Given the description of an element on the screen output the (x, y) to click on. 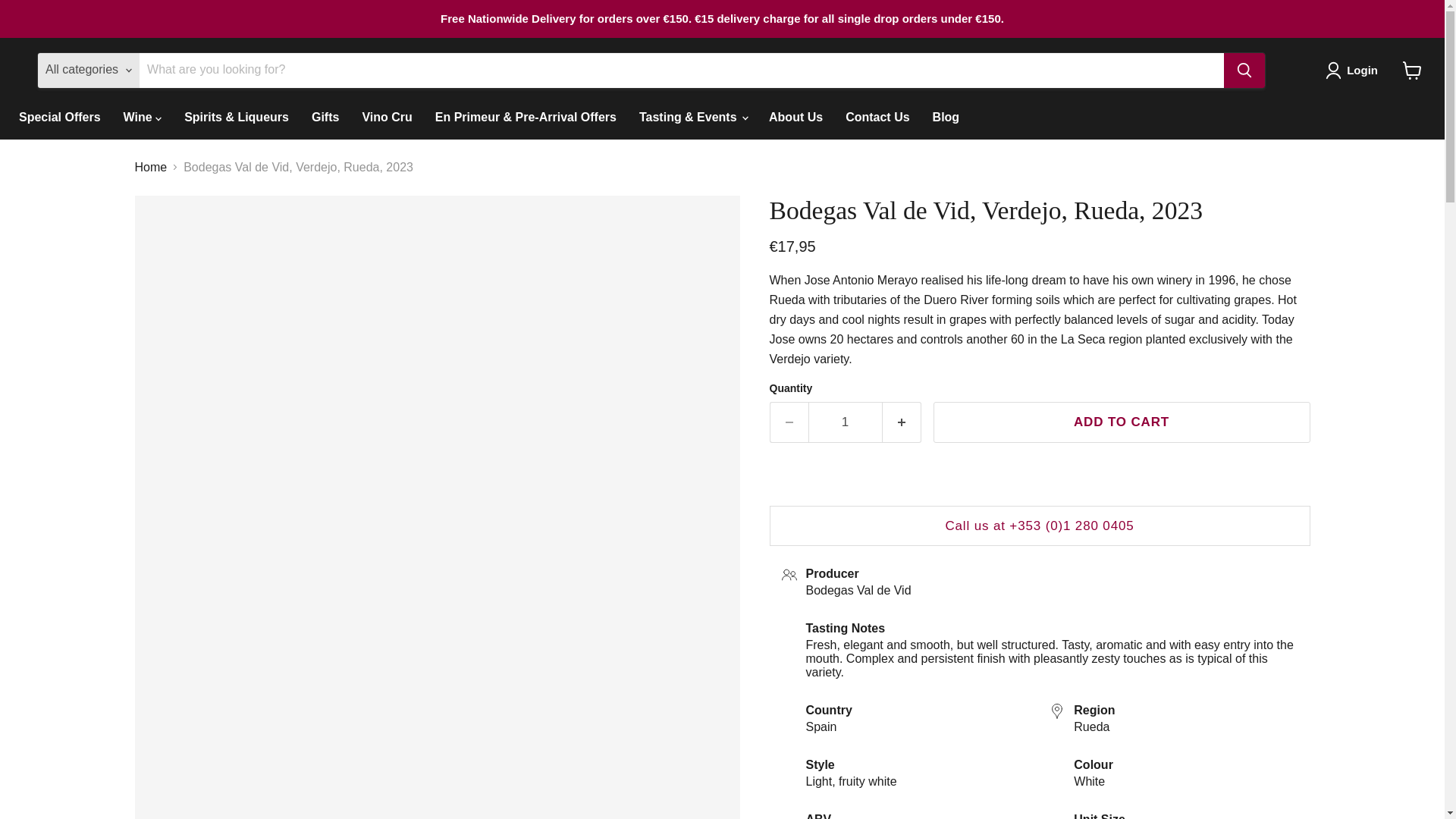
1 (845, 422)
Special Offers (59, 117)
View cart (1411, 69)
Login (1354, 70)
